Given the description of an element on the screen output the (x, y) to click on. 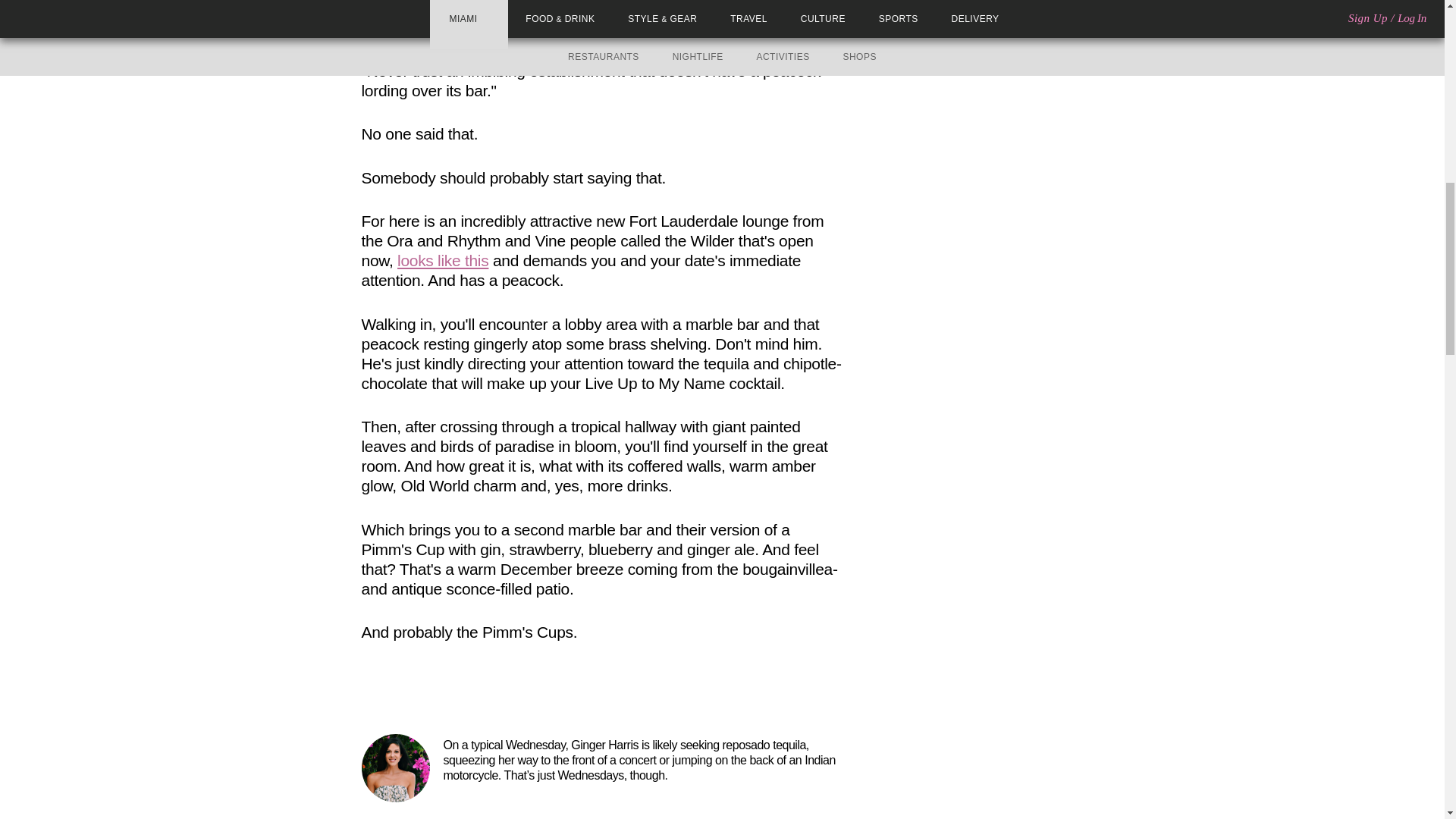
Pinterest (414, 693)
looks like this (442, 260)
Save (437, 693)
